Given the description of an element on the screen output the (x, y) to click on. 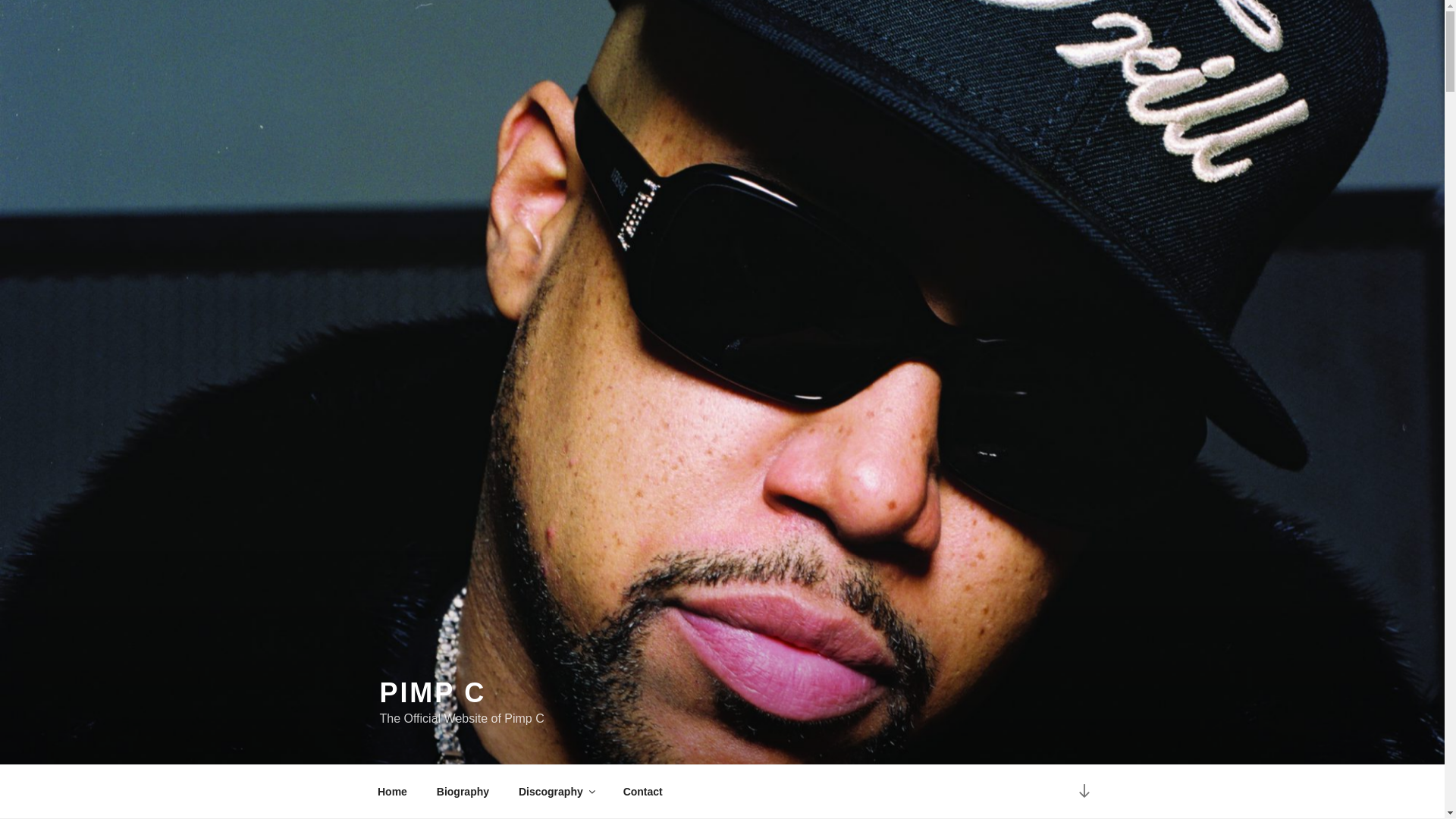
Scroll down to content (1082, 791)
PIMP C (432, 692)
Discography (556, 791)
Home (392, 791)
Contact (642, 791)
Biography (462, 791)
Scroll down to content (1082, 791)
